Given the description of an element on the screen output the (x, y) to click on. 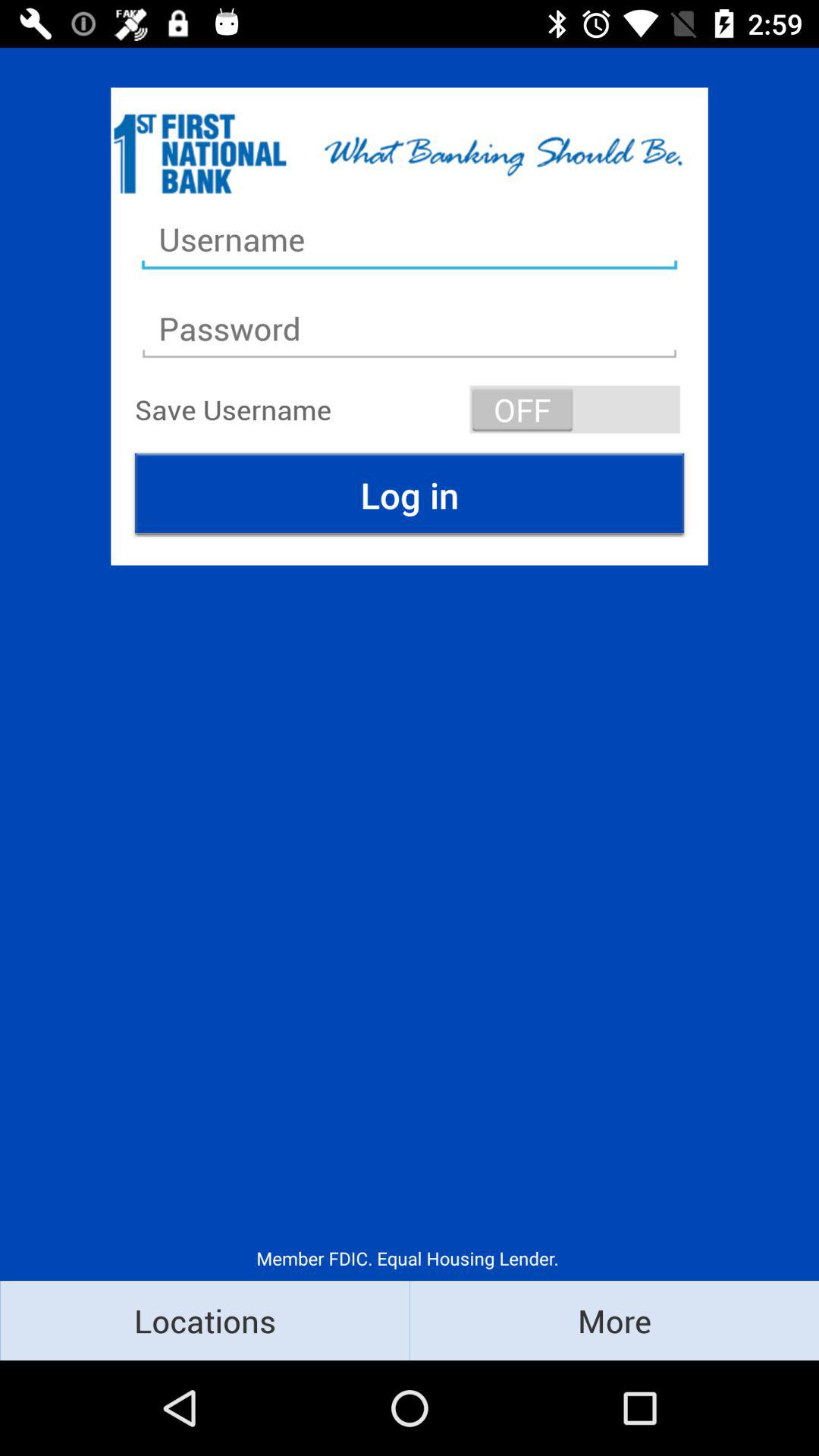
scroll until log in item (409, 494)
